Given the description of an element on the screen output the (x, y) to click on. 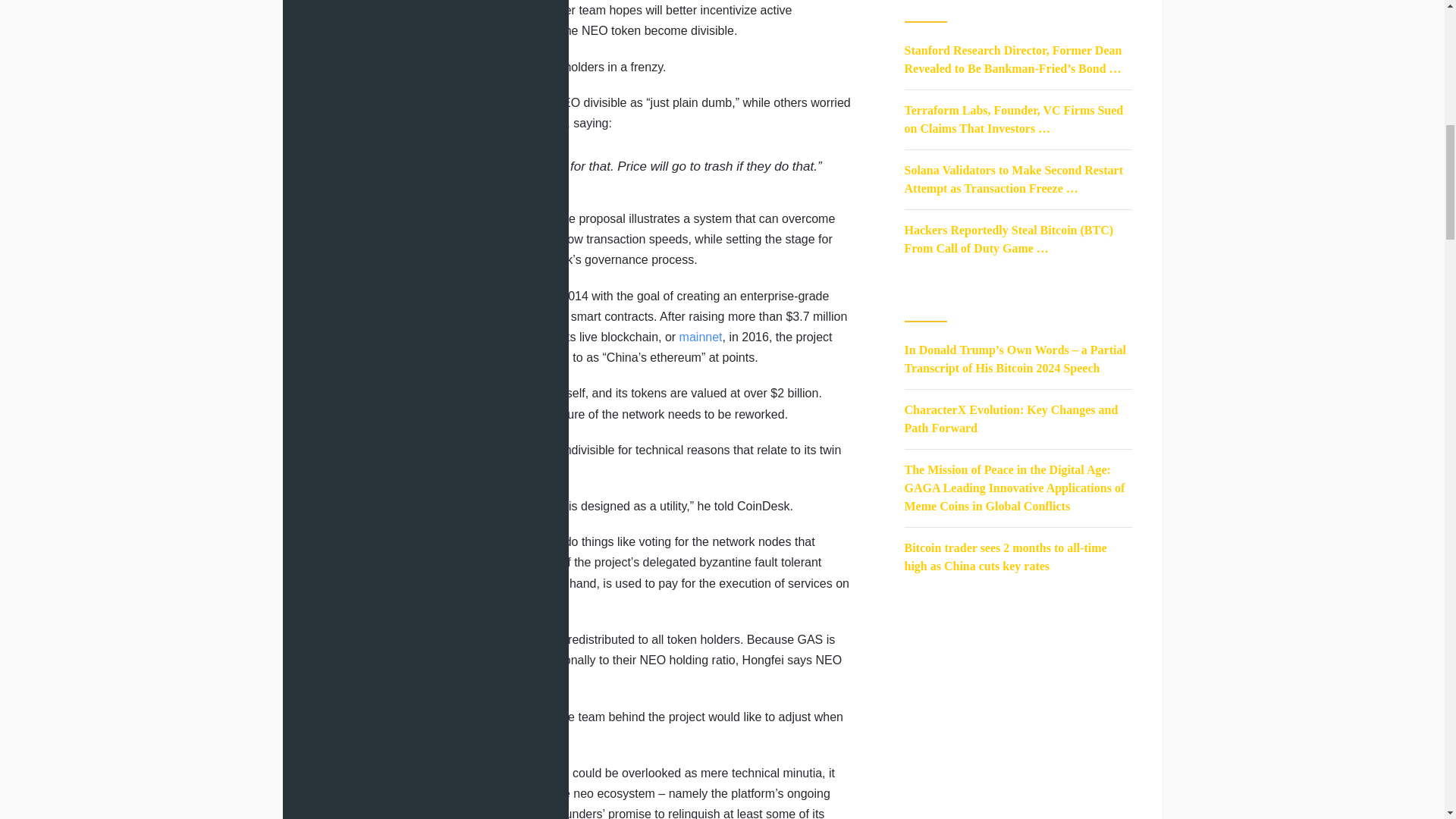
CharacterX Evolution: Key Changes and Path Forward (1011, 418)
